Given the description of an element on the screen output the (x, y) to click on. 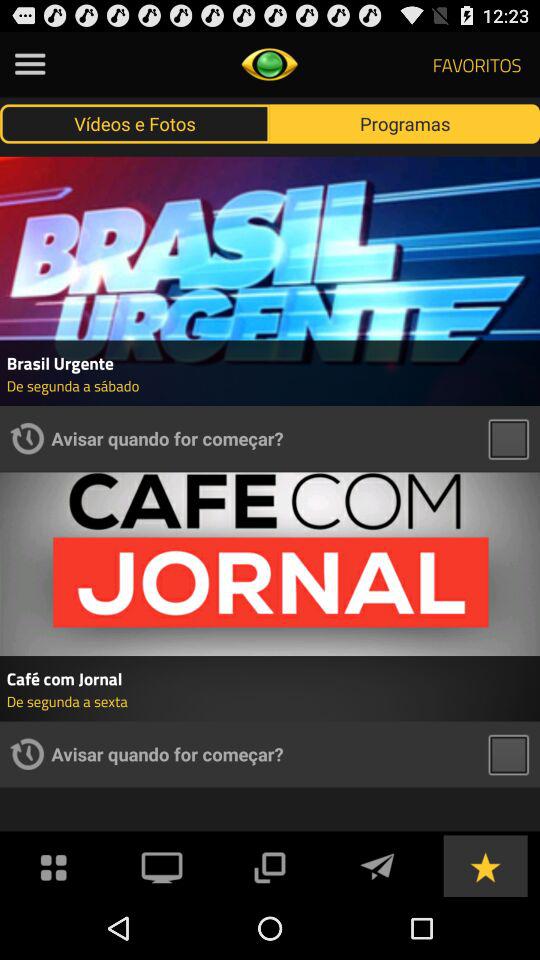
turn on icon next to avisar quando for item (27, 438)
